Given the description of an element on the screen output the (x, y) to click on. 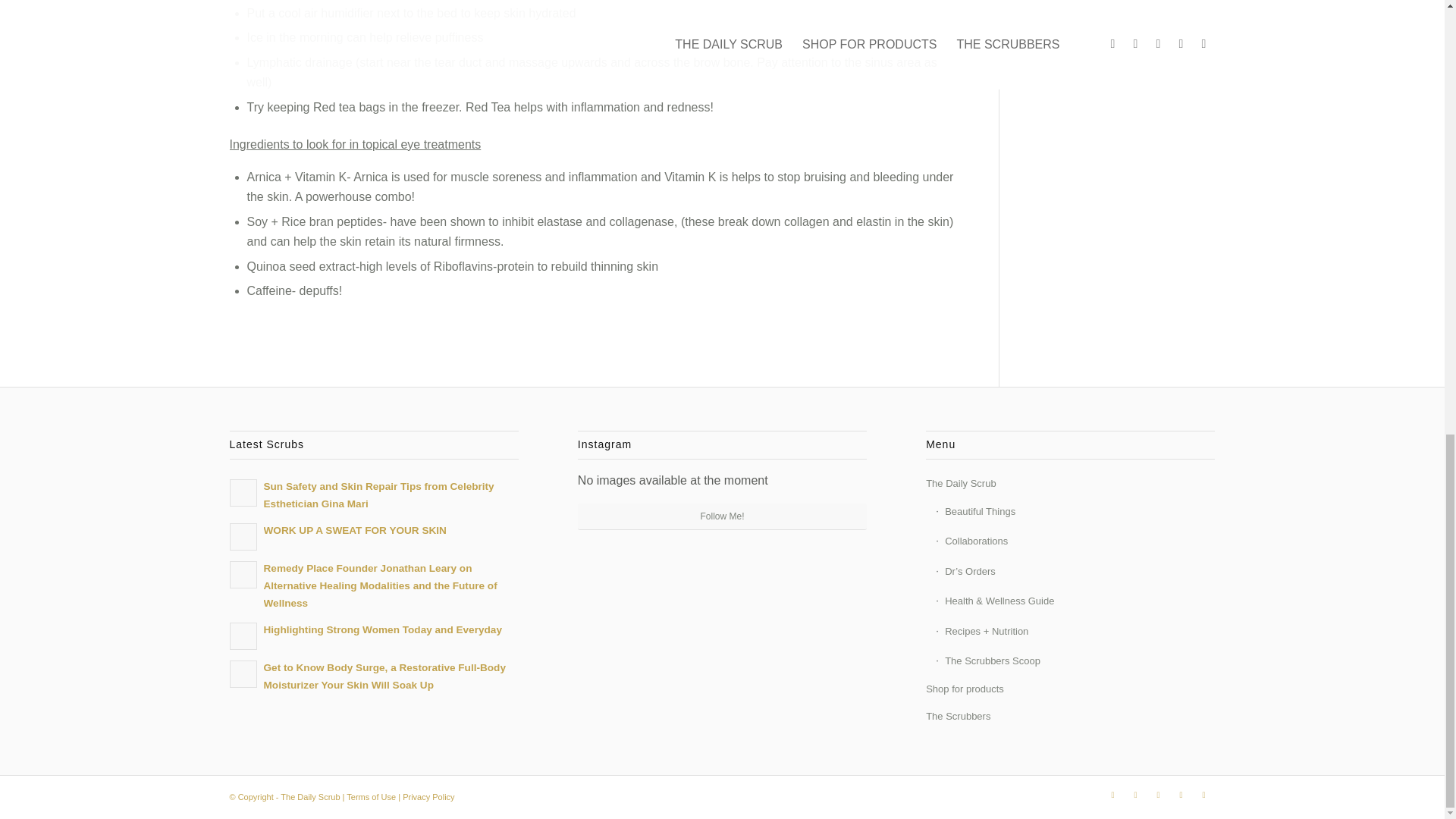
WORK UP A SWEAT FOR YOUR SKIN (373, 535)
Highlighting Strong Women Today and Everyday (373, 634)
Facebook (1135, 793)
Collaborations (1075, 541)
Highlighting Strong Women Today and Everyday (373, 634)
